Given the description of an element on the screen output the (x, y) to click on. 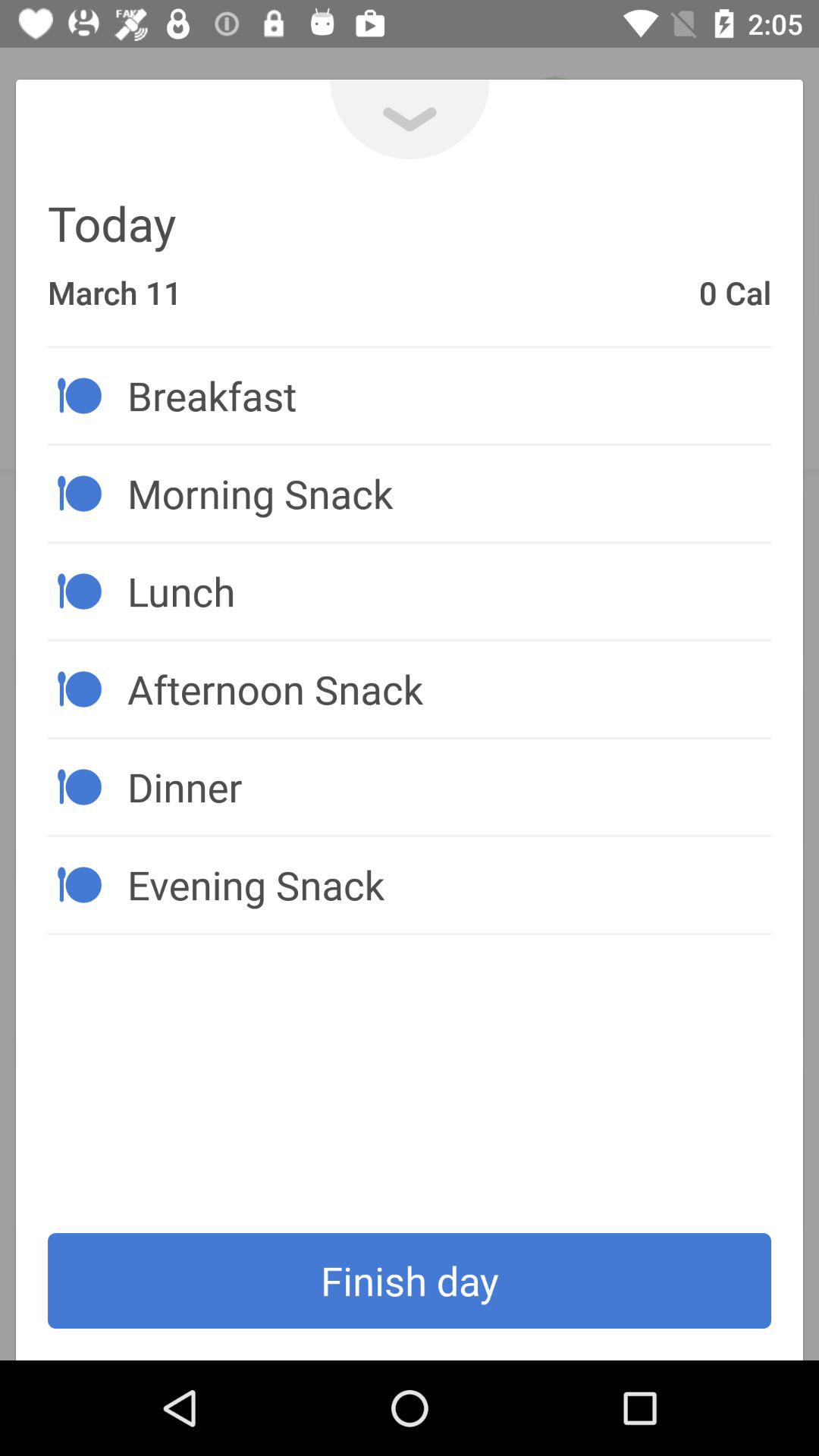
jump until the finish day icon (409, 1280)
